Given the description of an element on the screen output the (x, y) to click on. 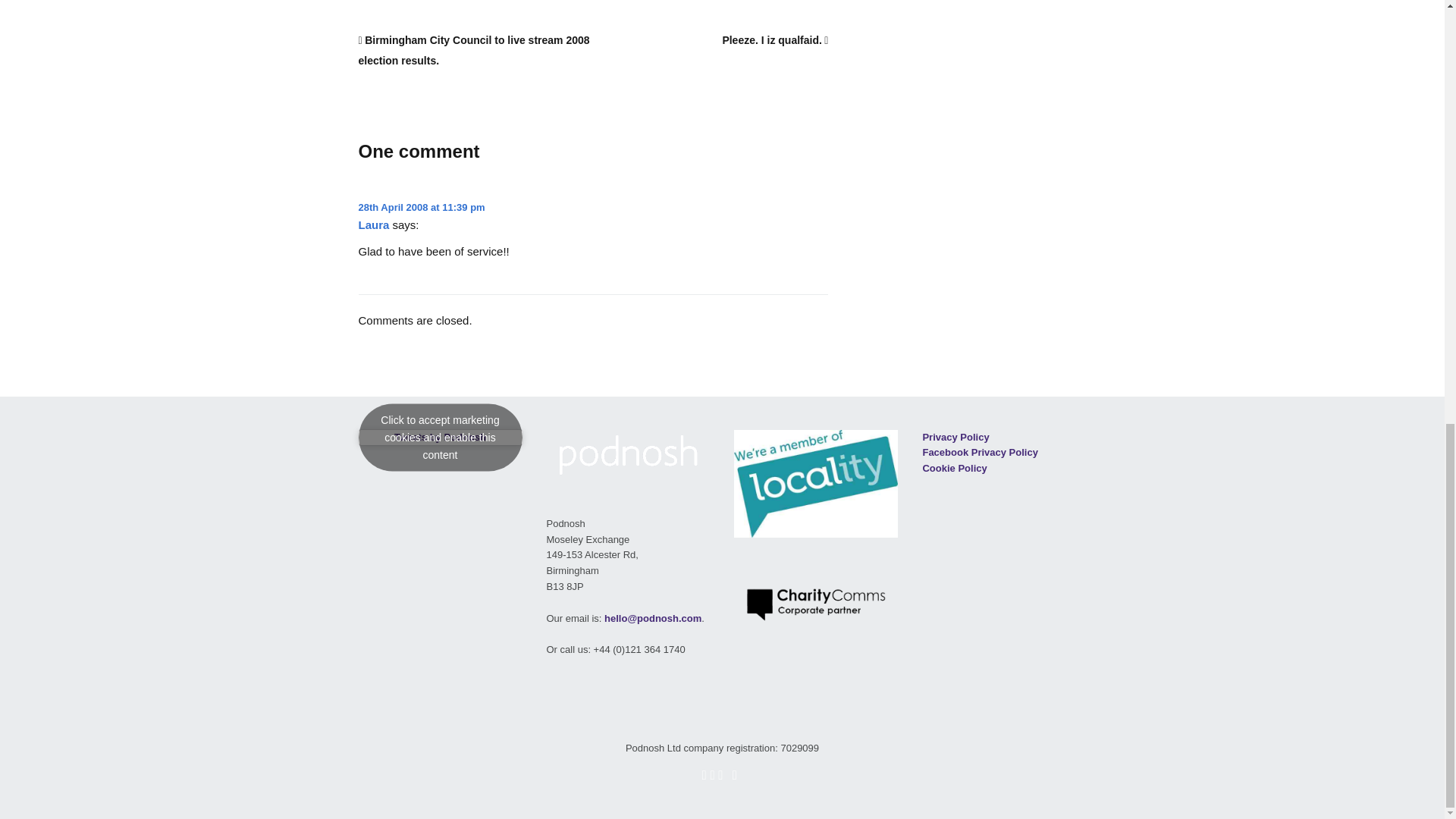
Laura (373, 224)
Pleeze. I iz qualfaid. (775, 39)
28th April 2008 at 11:39 pm (421, 206)
